Given the description of an element on the screen output the (x, y) to click on. 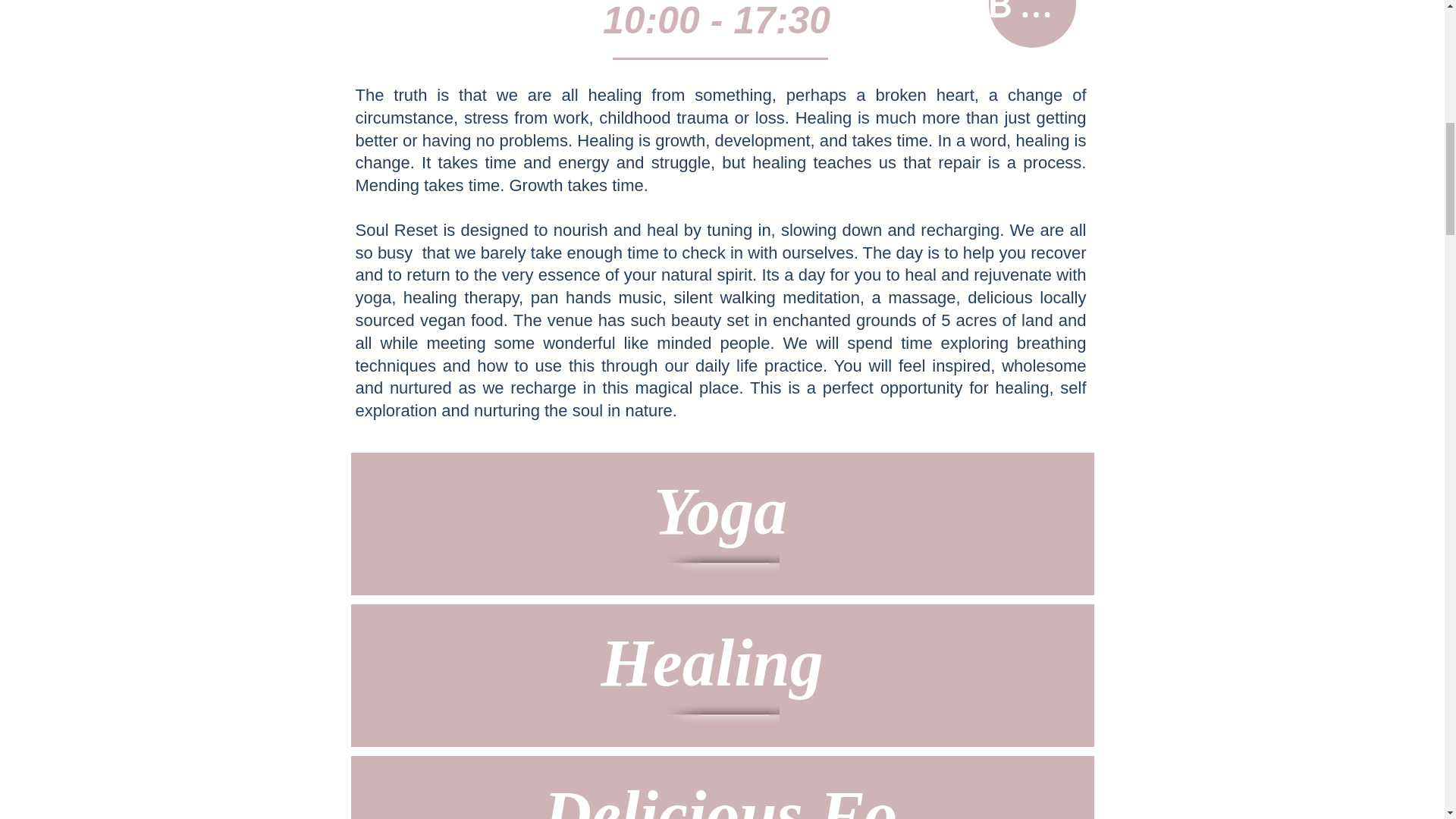
Delicious Food (720, 798)
Yoga (720, 511)
Book (1031, 23)
Healing  (719, 663)
